Given the description of an element on the screen output the (x, y) to click on. 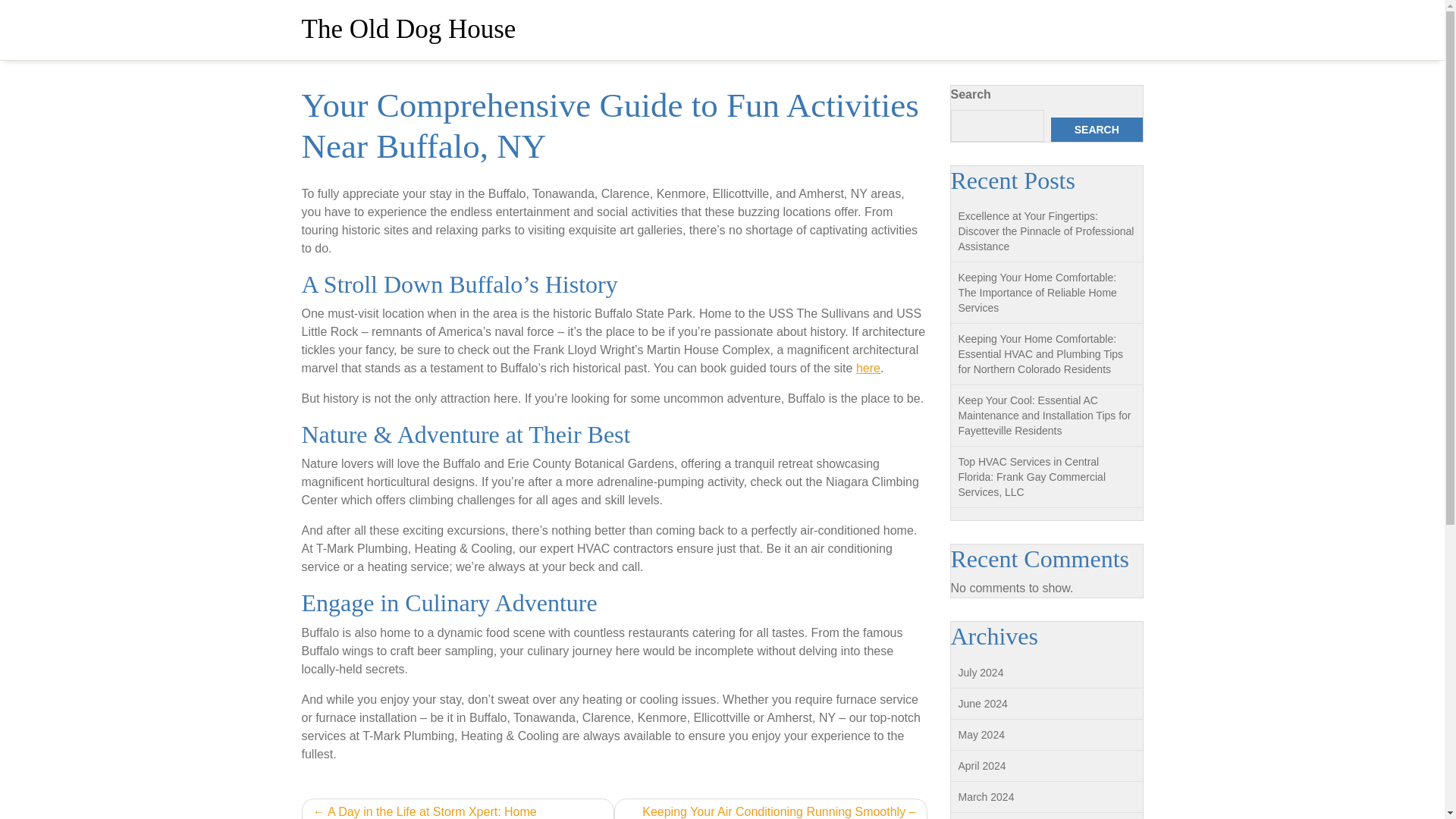
July 2024 (981, 672)
April 2024 (982, 766)
The Old Dog House (408, 29)
June 2024 (982, 703)
SEARCH (1096, 128)
A Day in the Life at Storm Xpert: Home Remodeling Experts (457, 808)
March 2024 (986, 797)
here (868, 367)
May 2024 (981, 734)
